Given the description of an element on the screen output the (x, y) to click on. 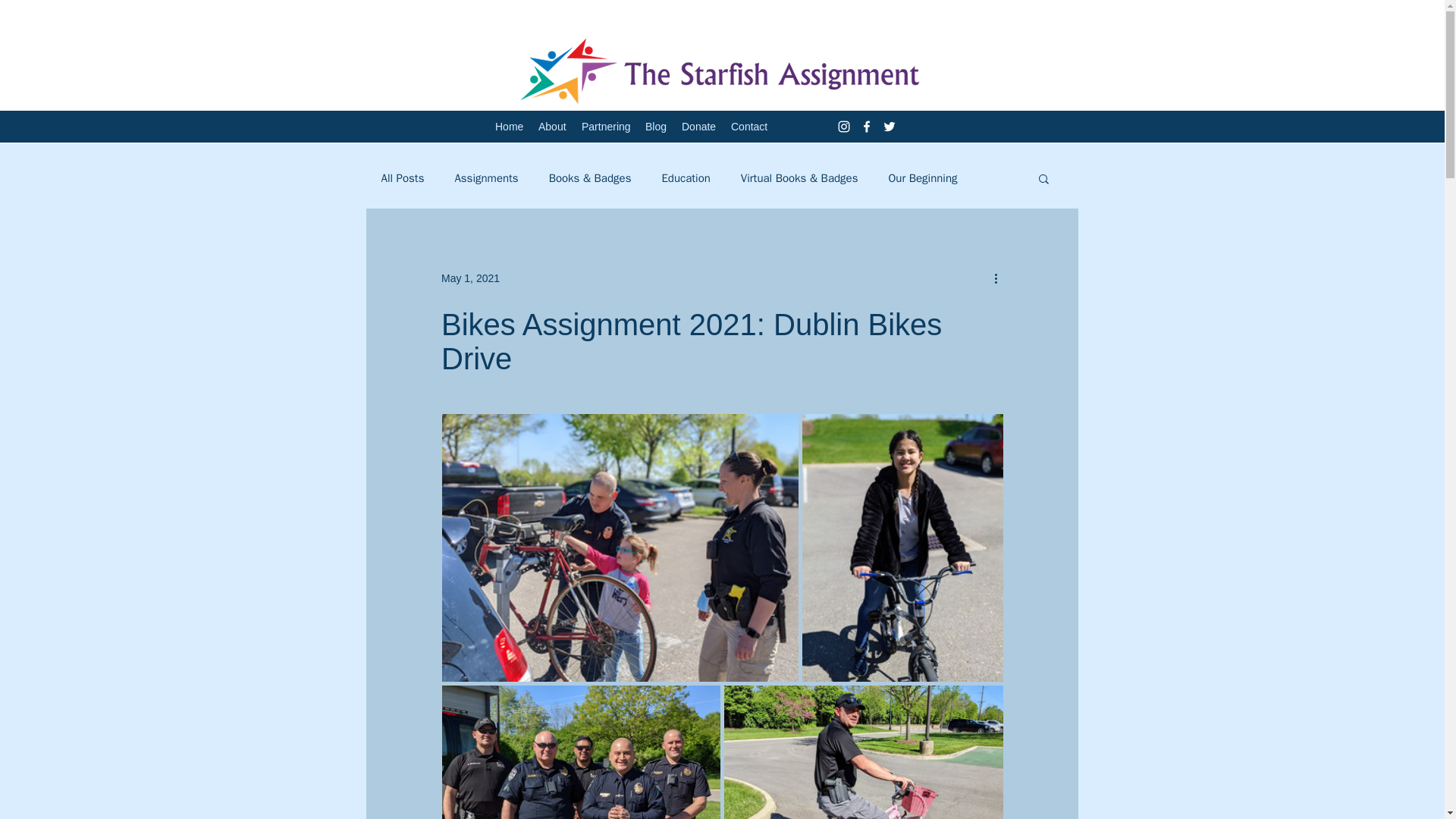
May 1, 2021 (470, 277)
Education (685, 178)
Contact (748, 126)
Partnering (605, 126)
Home (509, 126)
Blog (655, 126)
Donate (698, 126)
Assignments (486, 178)
All Posts (401, 178)
Our Beginning (922, 178)
